Given the description of an element on the screen output the (x, y) to click on. 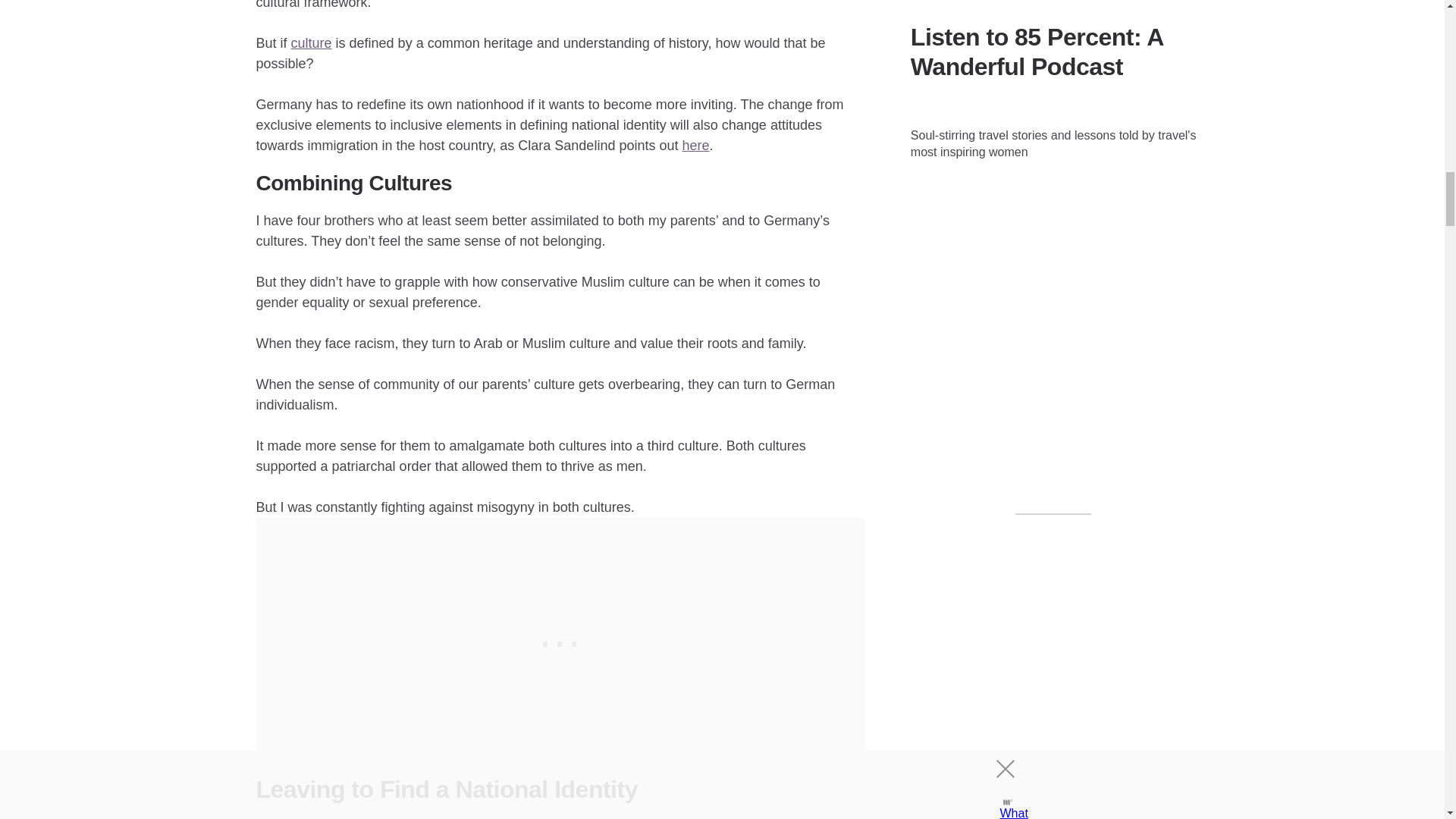
culture (311, 43)
here (695, 145)
